Given the description of an element on the screen output the (x, y) to click on. 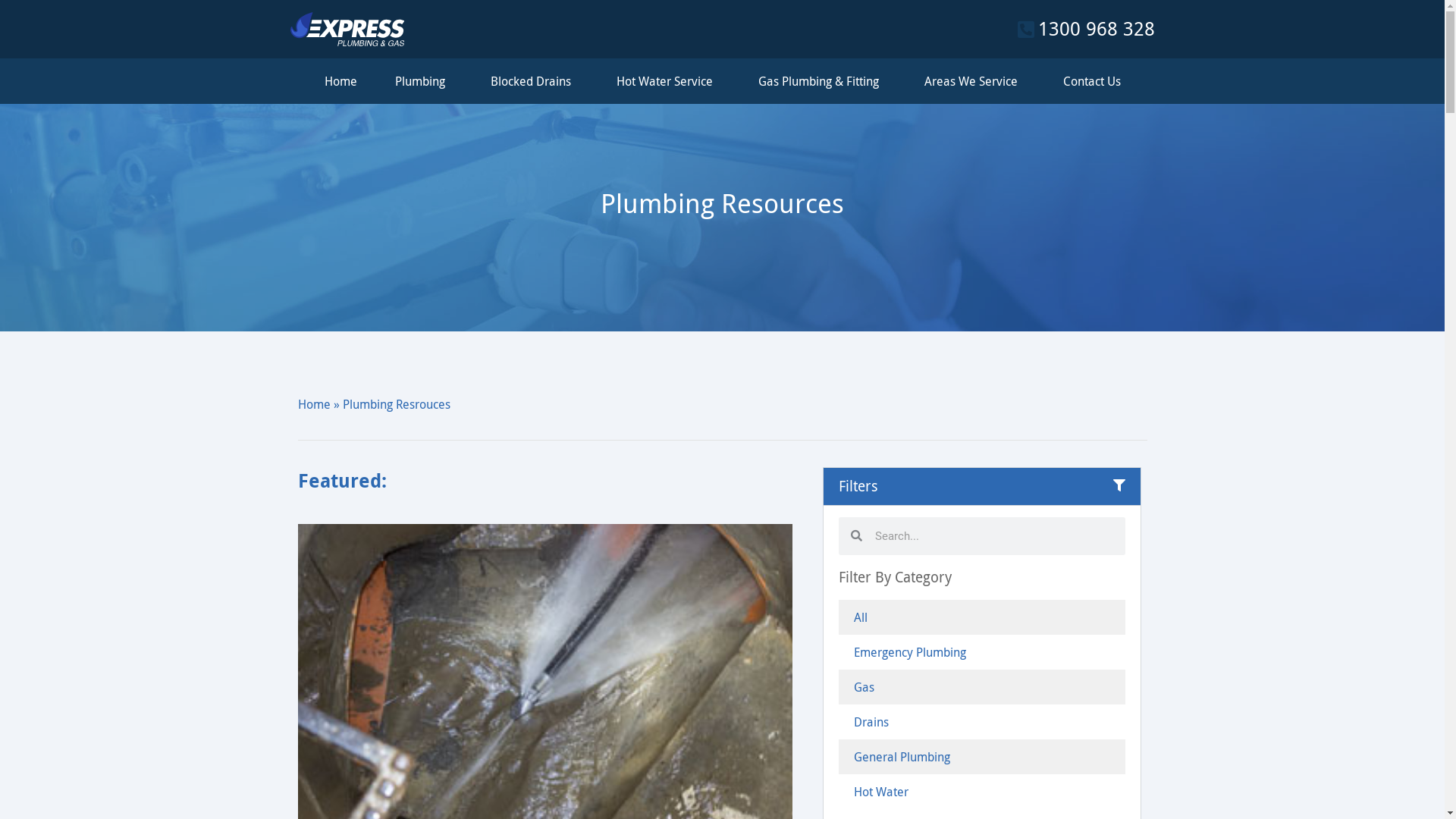
1300 968 328 Element type: text (1082, 28)
General Plumbing Element type: text (982, 756)
Areas We Service Element type: text (973, 80)
Hot Water Element type: text (982, 791)
Contact Us Element type: text (1091, 80)
Blocked Drains Element type: text (533, 80)
All Element type: text (982, 616)
Filters Element type: text (858, 485)
Drains Element type: text (982, 721)
Home Element type: text (340, 80)
Gas Element type: text (982, 686)
Hot Water Service Element type: text (667, 80)
Emergency Plumbing Element type: text (982, 651)
Gas Plumbing & Fitting Element type: text (822, 80)
Plumbing Element type: text (423, 80)
Home Element type: text (313, 403)
